Given the description of an element on the screen output the (x, y) to click on. 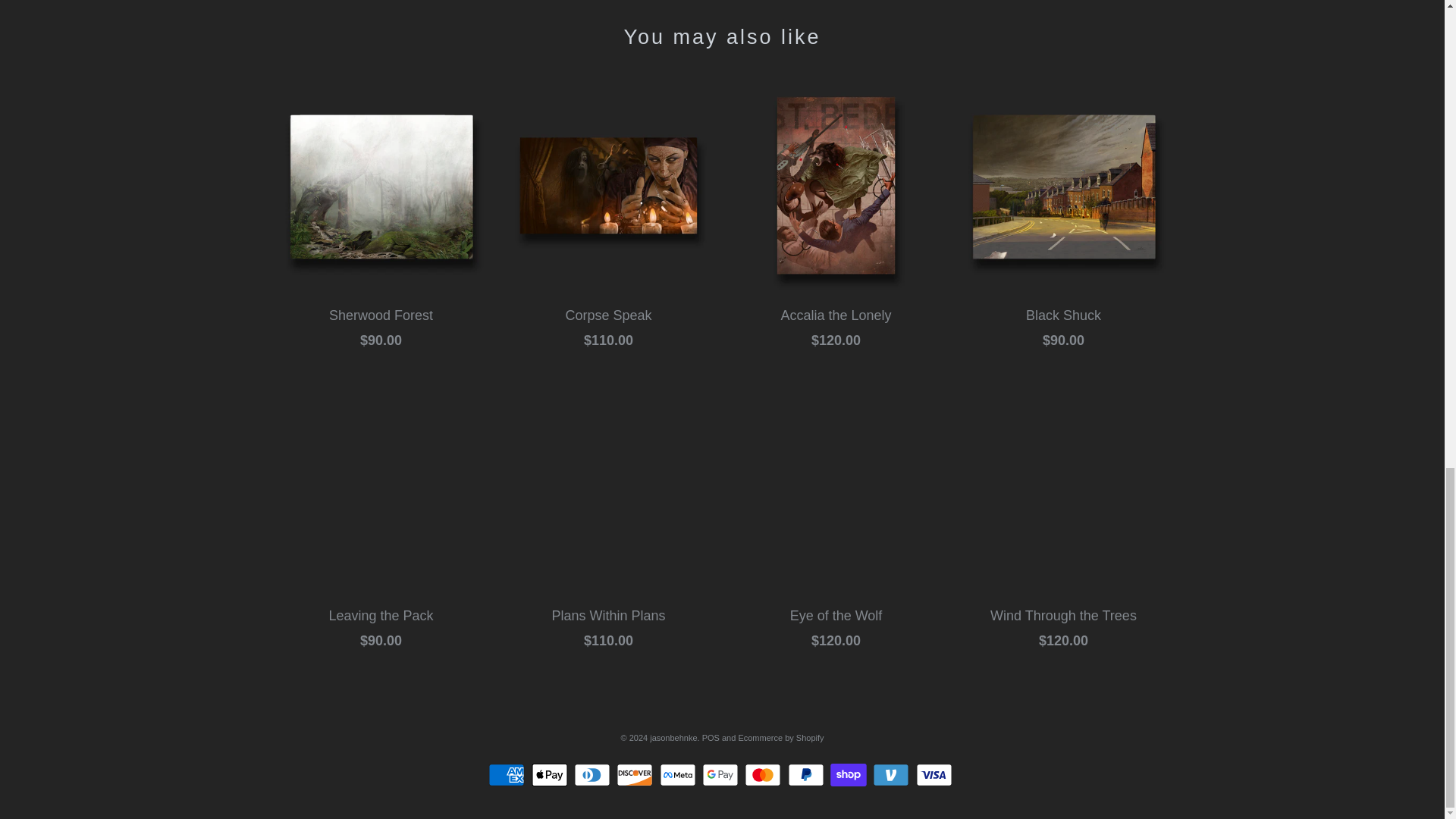
Venmo (892, 774)
Diners Club (593, 774)
Apple Pay (551, 774)
Google Pay (721, 774)
Discover (635, 774)
PayPal (807, 774)
Mastercard (764, 774)
Shop Pay (849, 774)
Meta Pay (679, 774)
Visa (935, 774)
American Express (507, 774)
